Given the description of an element on the screen output the (x, y) to click on. 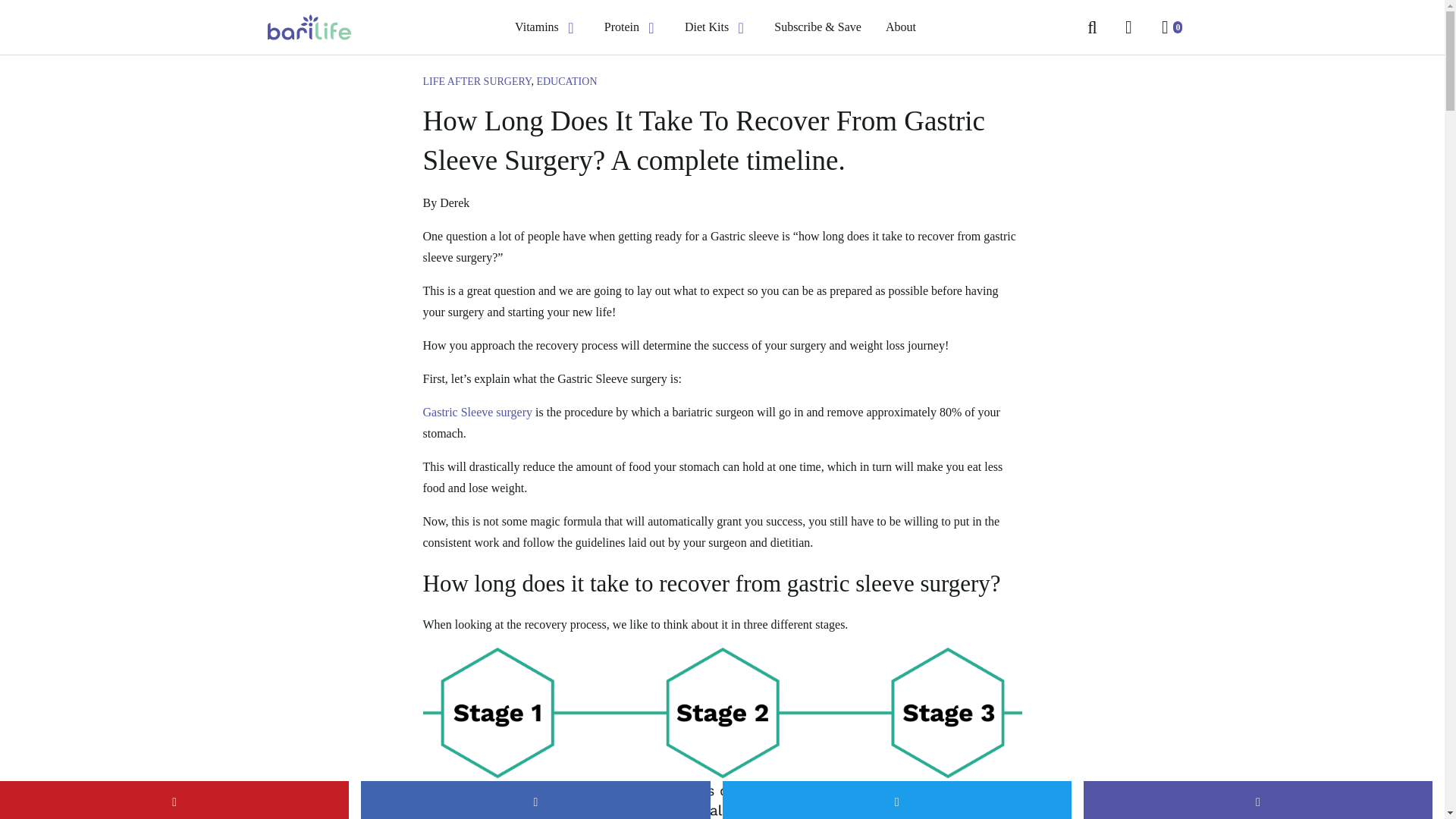
Protein (621, 26)
Vitamins (537, 26)
View your shopping cart (1164, 27)
